Given the description of an element on the screen output the (x, y) to click on. 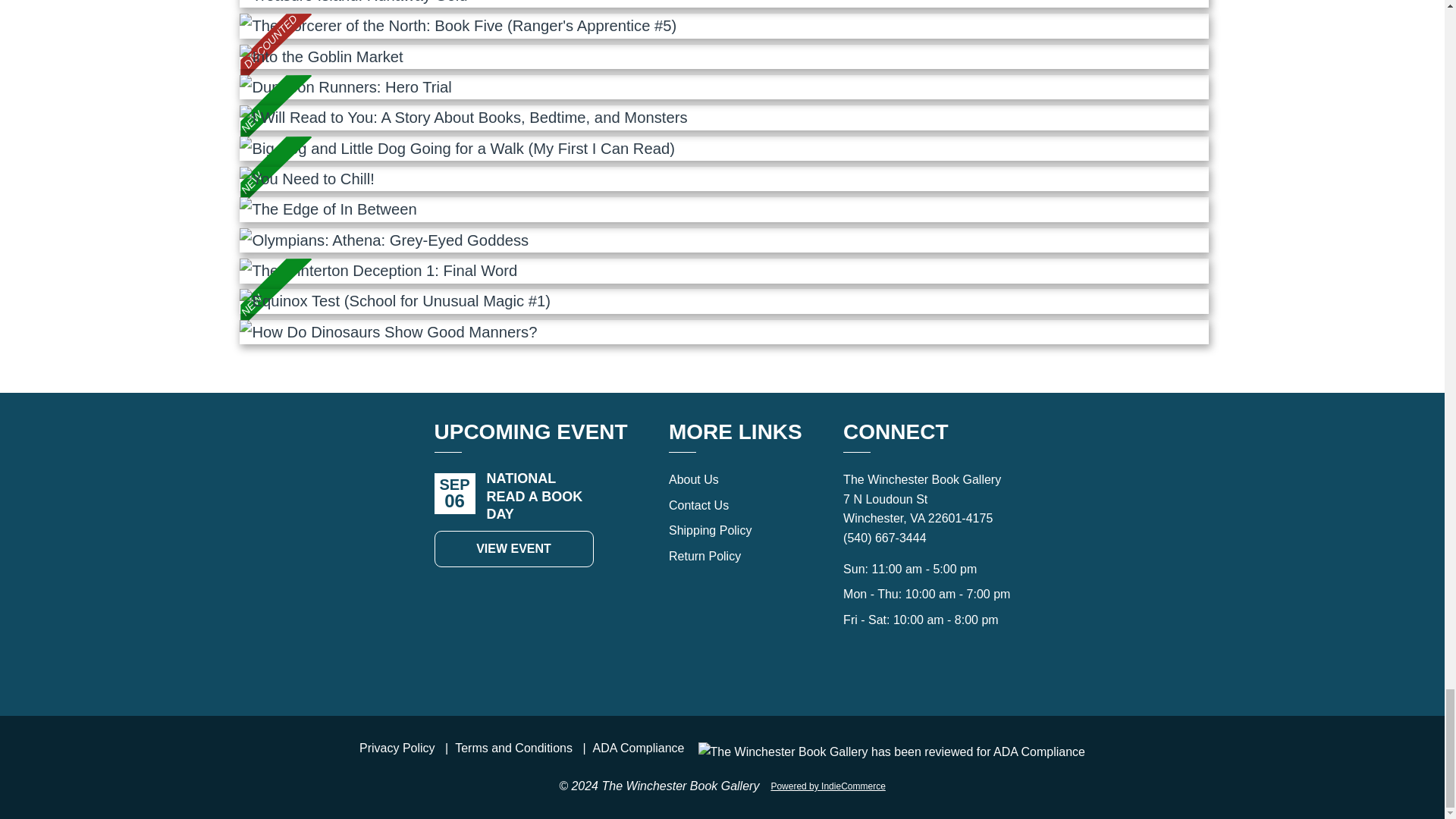
Connect with Facebook (852, 662)
Connect with Instagram (885, 662)
DISCOUNTED (724, 25)
